Given the description of an element on the screen output the (x, y) to click on. 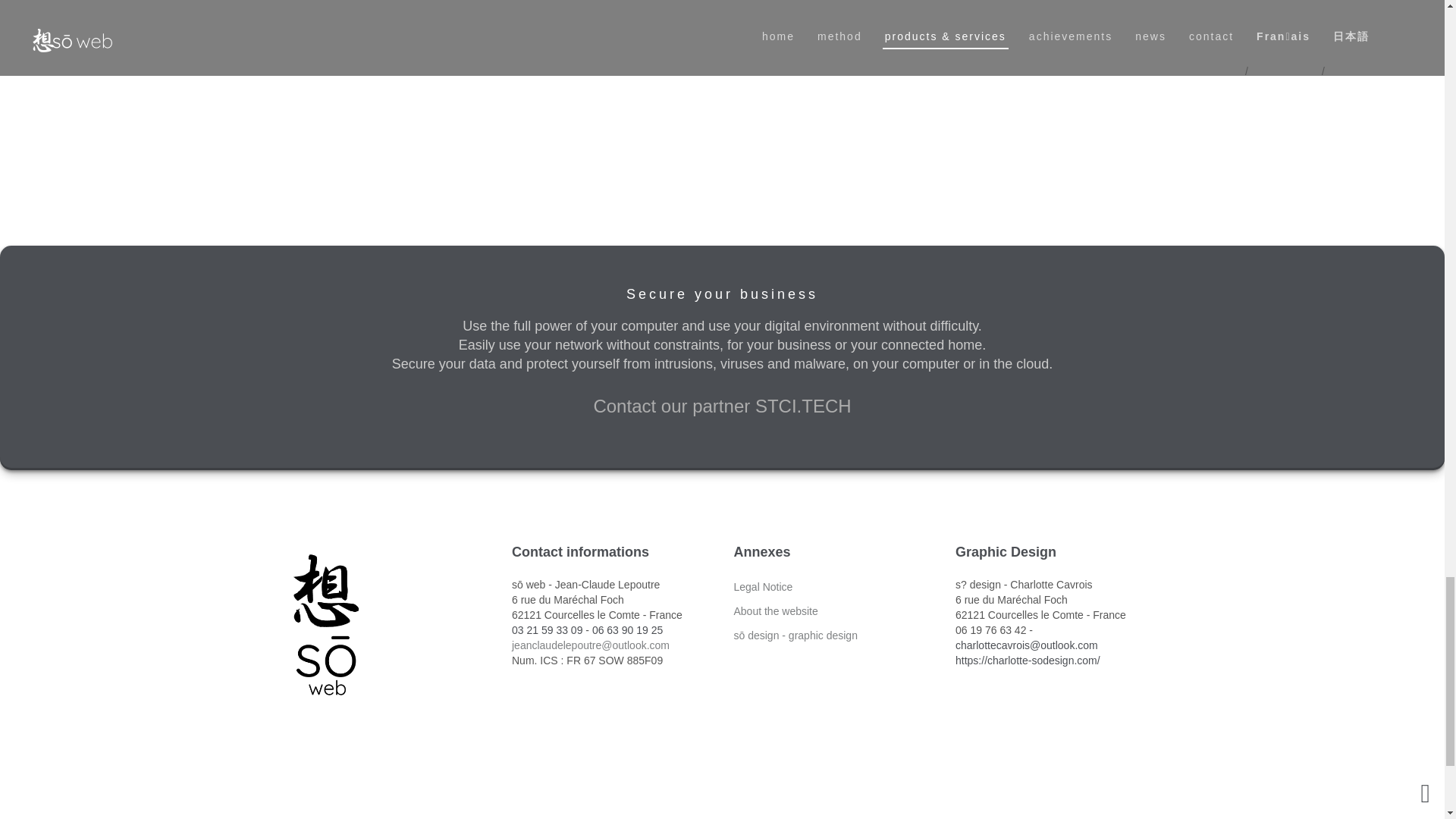
06 63 90 19 25 (627, 630)
Twitter (722, 817)
Legal Notice (763, 586)
About the website (775, 611)
Facebook (696, 817)
03 21 59 33 09 (547, 630)
